Given the description of an element on the screen output the (x, y) to click on. 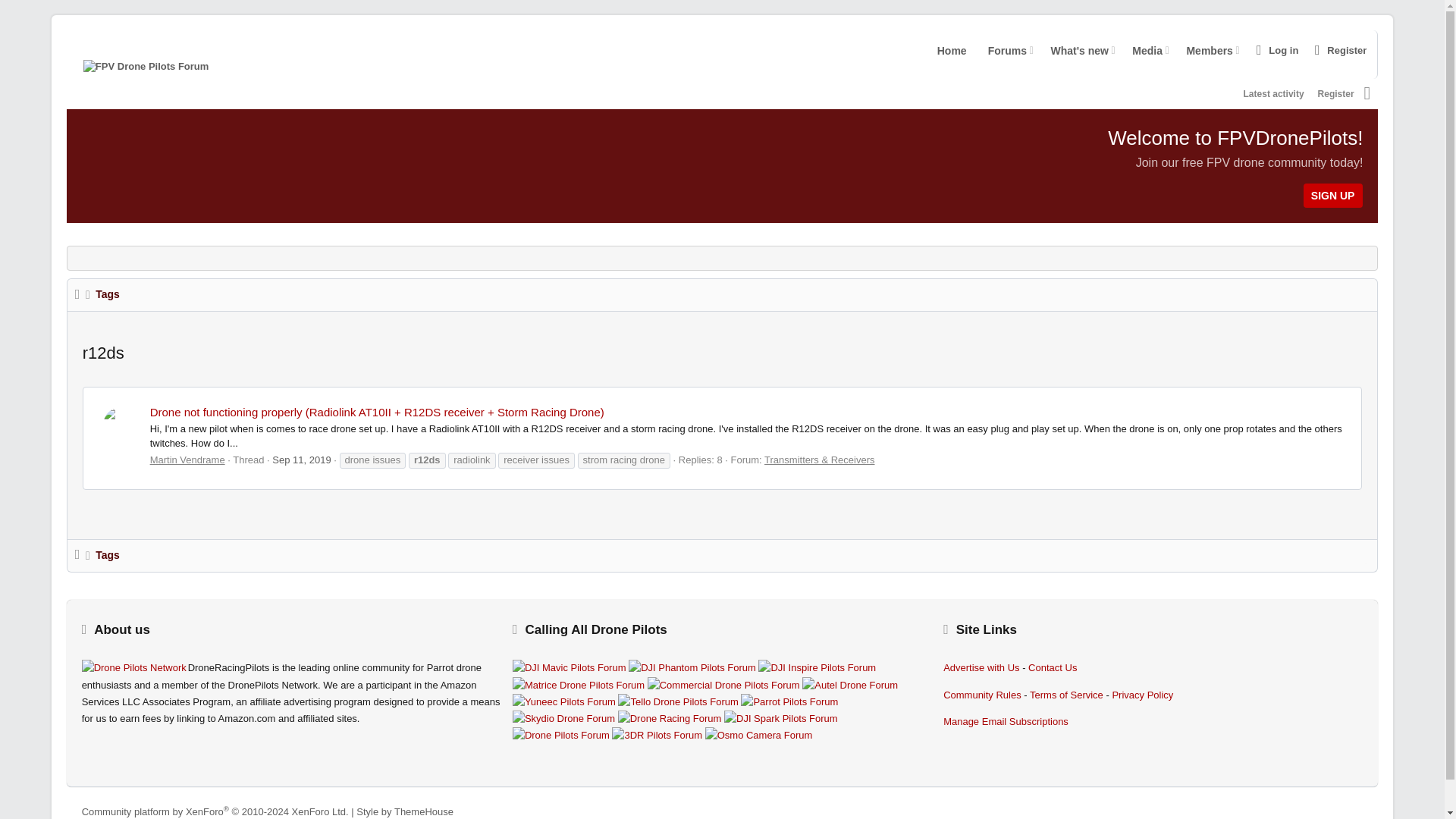
Latest activity (1273, 94)
Tello Drone Pilots Forum Logo (677, 701)
What's new (1075, 50)
DJI Phantom Pilots Logo (1086, 54)
DronePilots.zone Logo (691, 668)
Members (134, 668)
Matrice Drone Pilots Community Logo (1206, 50)
Home (578, 685)
DJI Mavic Pilots Logo (951, 50)
AutelPilots Drone Community Logo (1298, 93)
Sep 11, 2019 at 10:57 PM (569, 668)
Skydio Community Logo (850, 685)
Yuneec Pilots Forum Logo (301, 460)
